Given the description of an element on the screen output the (x, y) to click on. 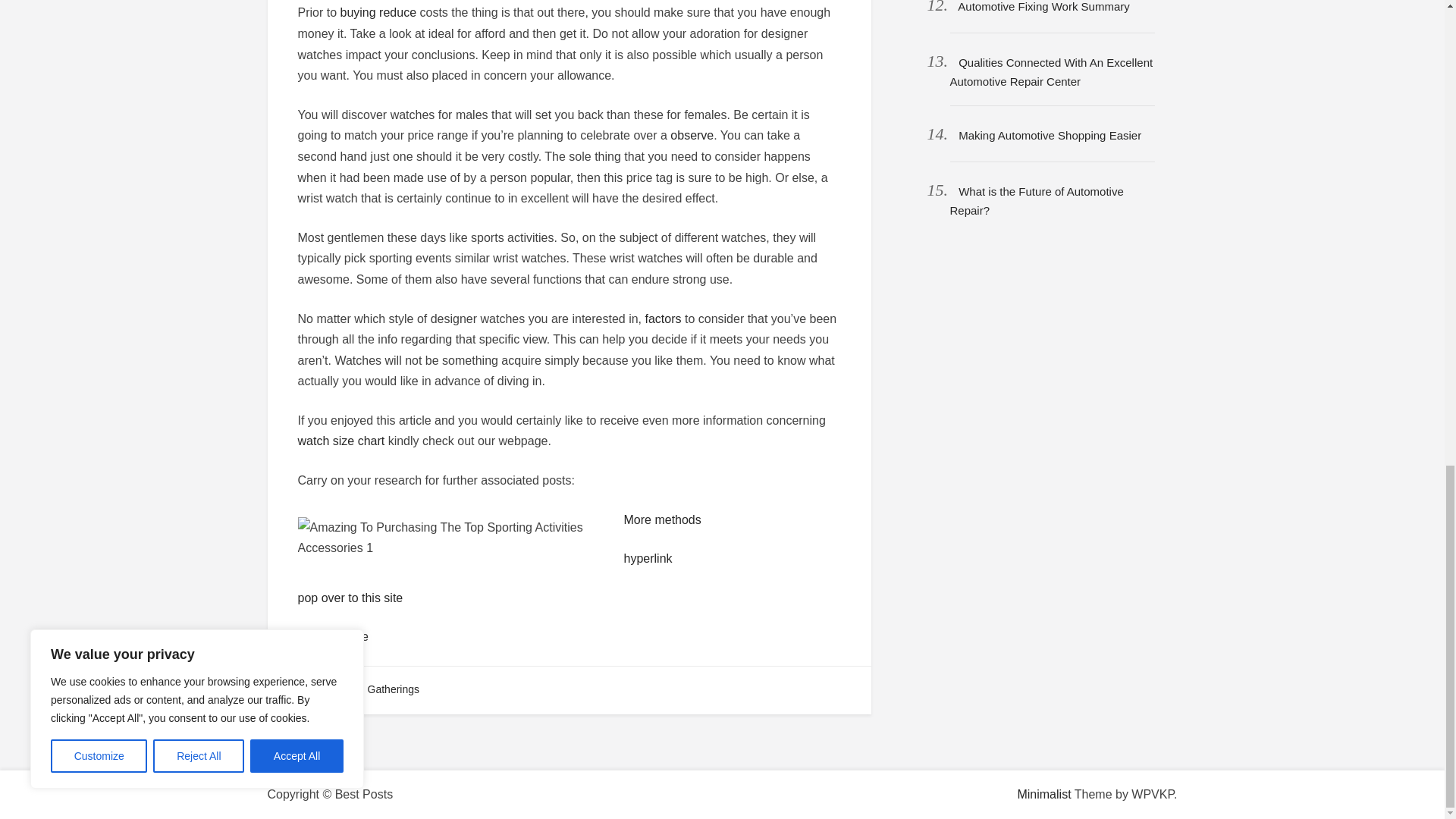
observe (691, 134)
link webpage (332, 635)
Gatherings (393, 689)
hyperlink (647, 558)
pop over to this site (350, 597)
General (324, 689)
watch size chart (340, 440)
buying reduce (378, 11)
More methods (661, 519)
factors (663, 318)
